Given the description of an element on the screen output the (x, y) to click on. 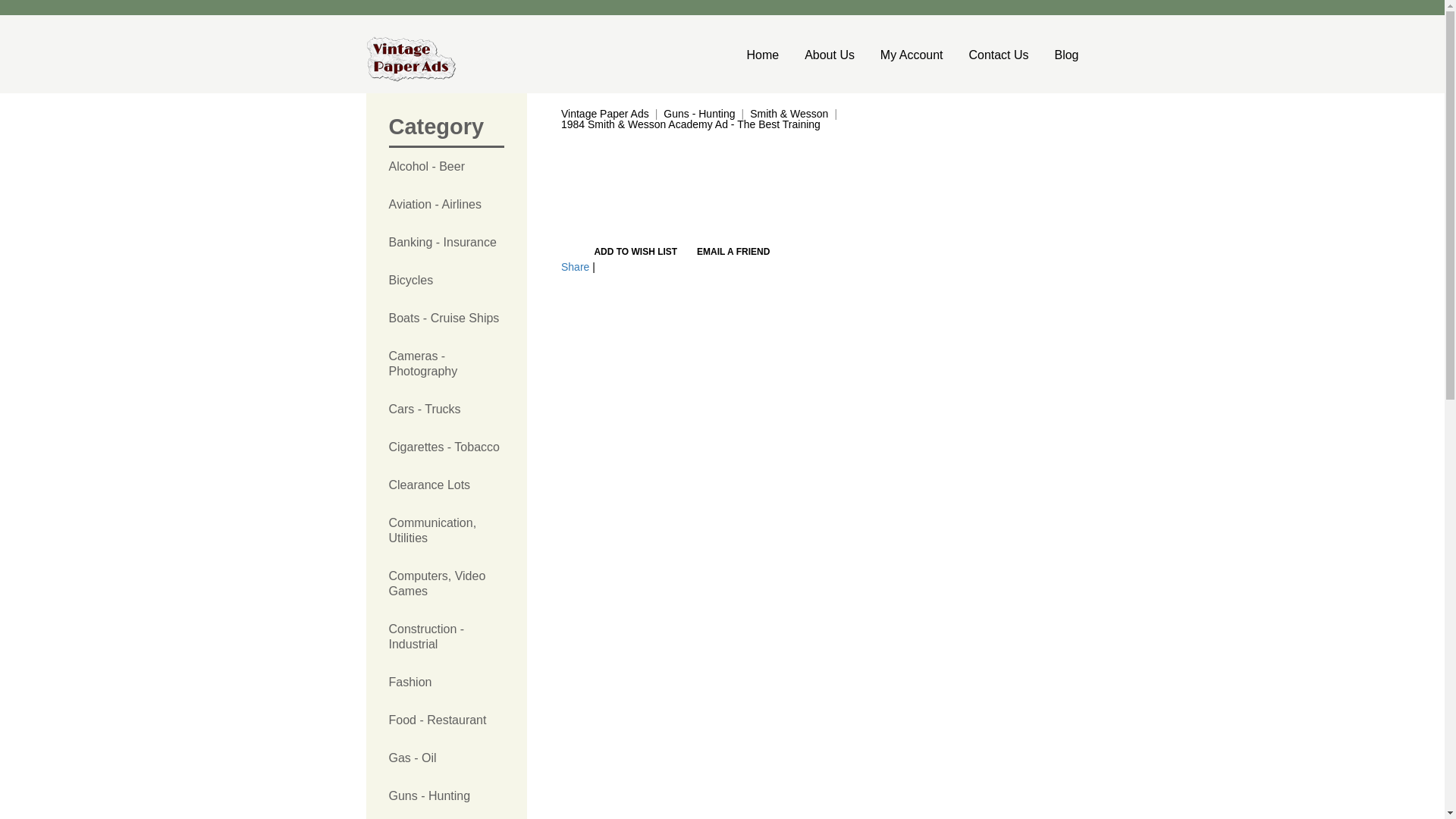
Bicycles (445, 280)
Aviation - Airlines (445, 204)
My Account (912, 54)
Communication, Utilities (445, 530)
About Us (829, 54)
Cameras - Photography (445, 363)
Computers, Video Games (445, 583)
Contact Us (997, 54)
Guns - Hunting (445, 795)
Boats - Cruise Ships (445, 318)
Blog (1060, 54)
Home (768, 54)
Alcohol - Beer (445, 166)
Cars - Trucks (445, 409)
Cigarettes - Tobacco (445, 447)
